Given the description of an element on the screen output the (x, y) to click on. 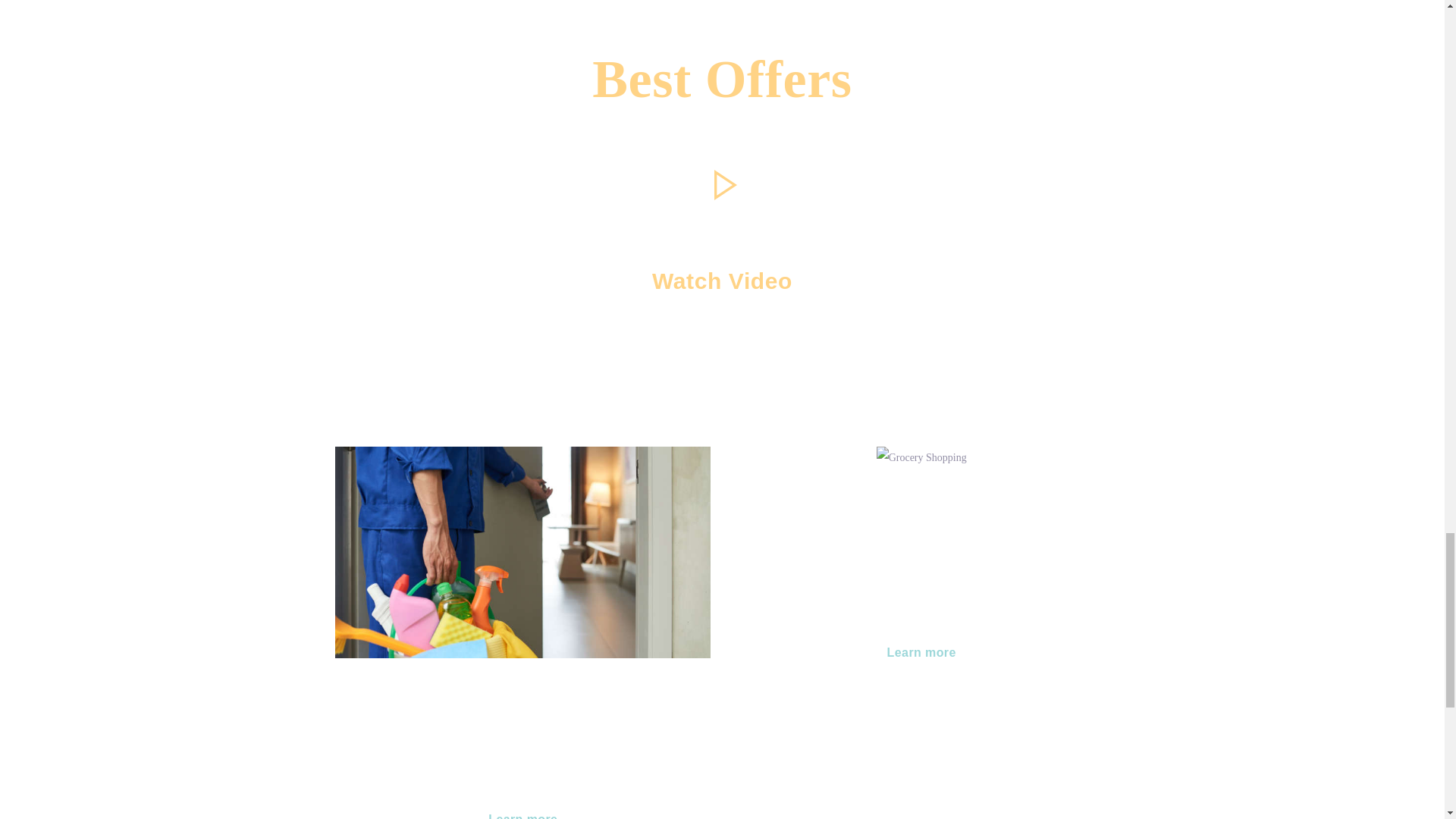
Learn more (922, 652)
Learn more (523, 807)
Grocery Shopping (920, 500)
